Given the description of an element on the screen output the (x, y) to click on. 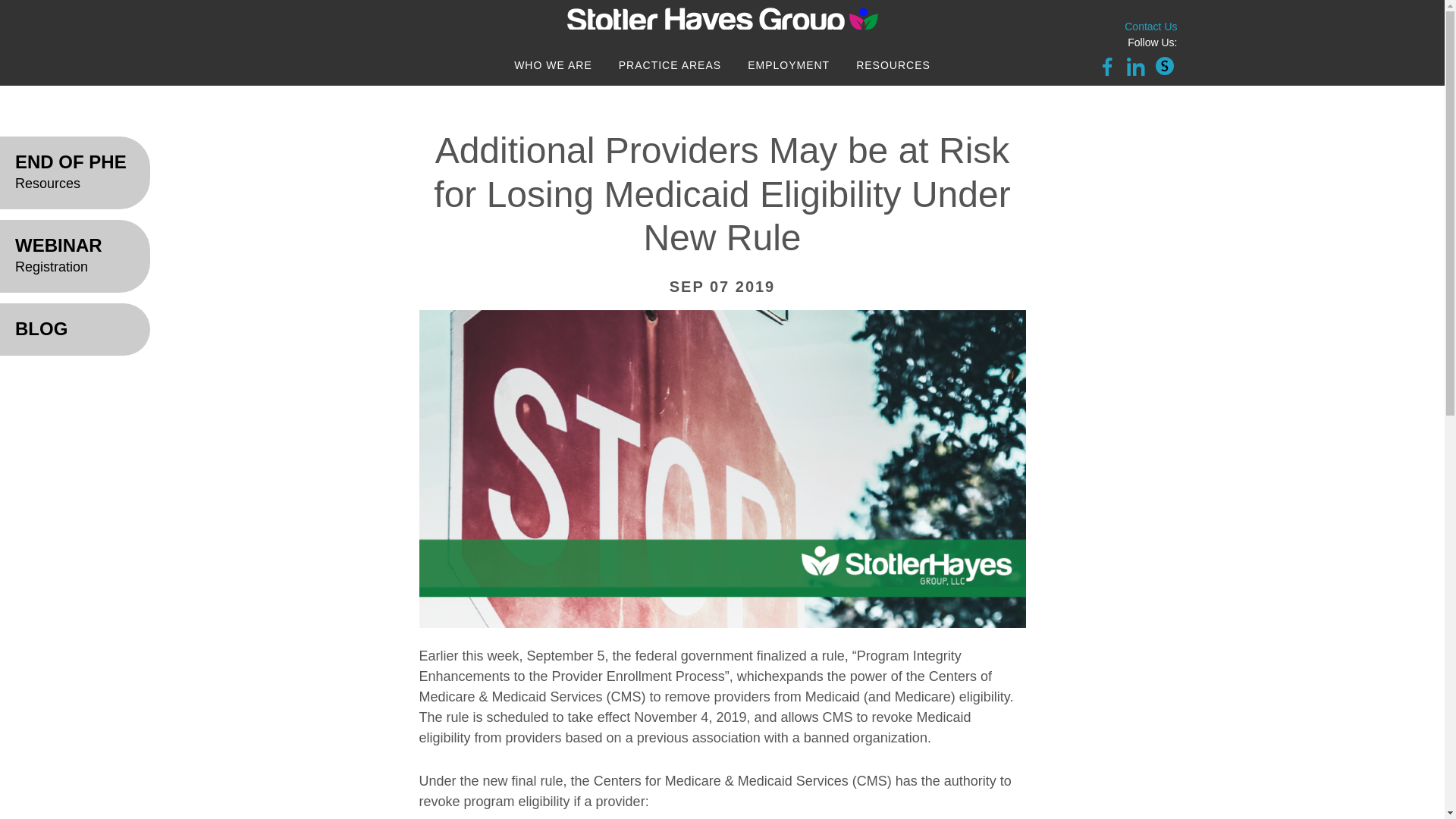
EMPLOYMENT (788, 65)
Contact Us (1150, 26)
STOTLER HAYES (722, 21)
BLOG (74, 329)
WHO WE ARE (553, 65)
RESOURCES (893, 65)
Follow Us: (1151, 42)
PRACTICE AREAS (669, 65)
